Given the description of an element on the screen output the (x, y) to click on. 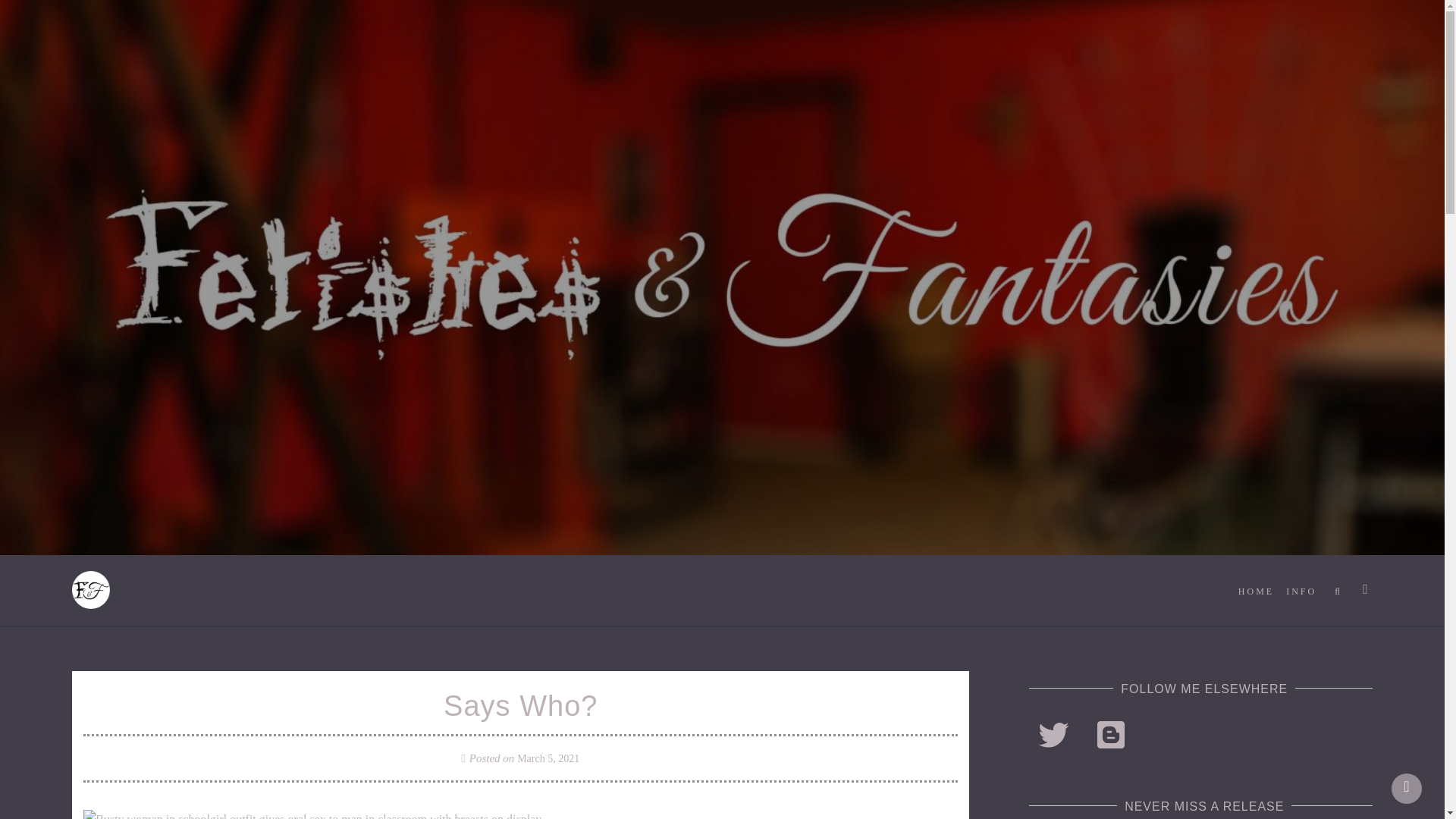
INFO (1300, 591)
Go to Top (1406, 788)
HOME (1255, 591)
March 5, 2021 (547, 759)
